Given the description of an element on the screen output the (x, y) to click on. 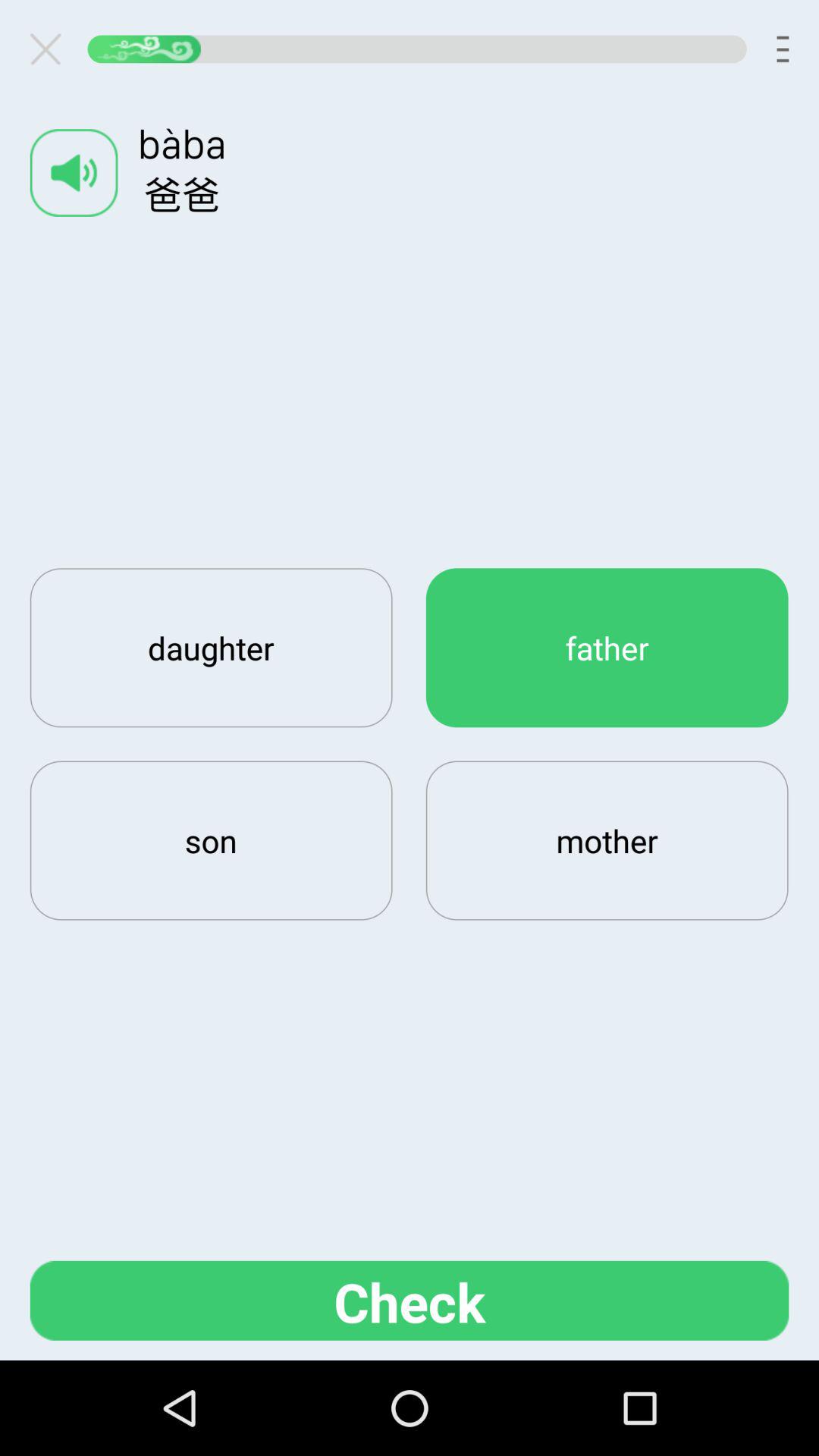
go to speaker (73, 172)
